Given the description of an element on the screen output the (x, y) to click on. 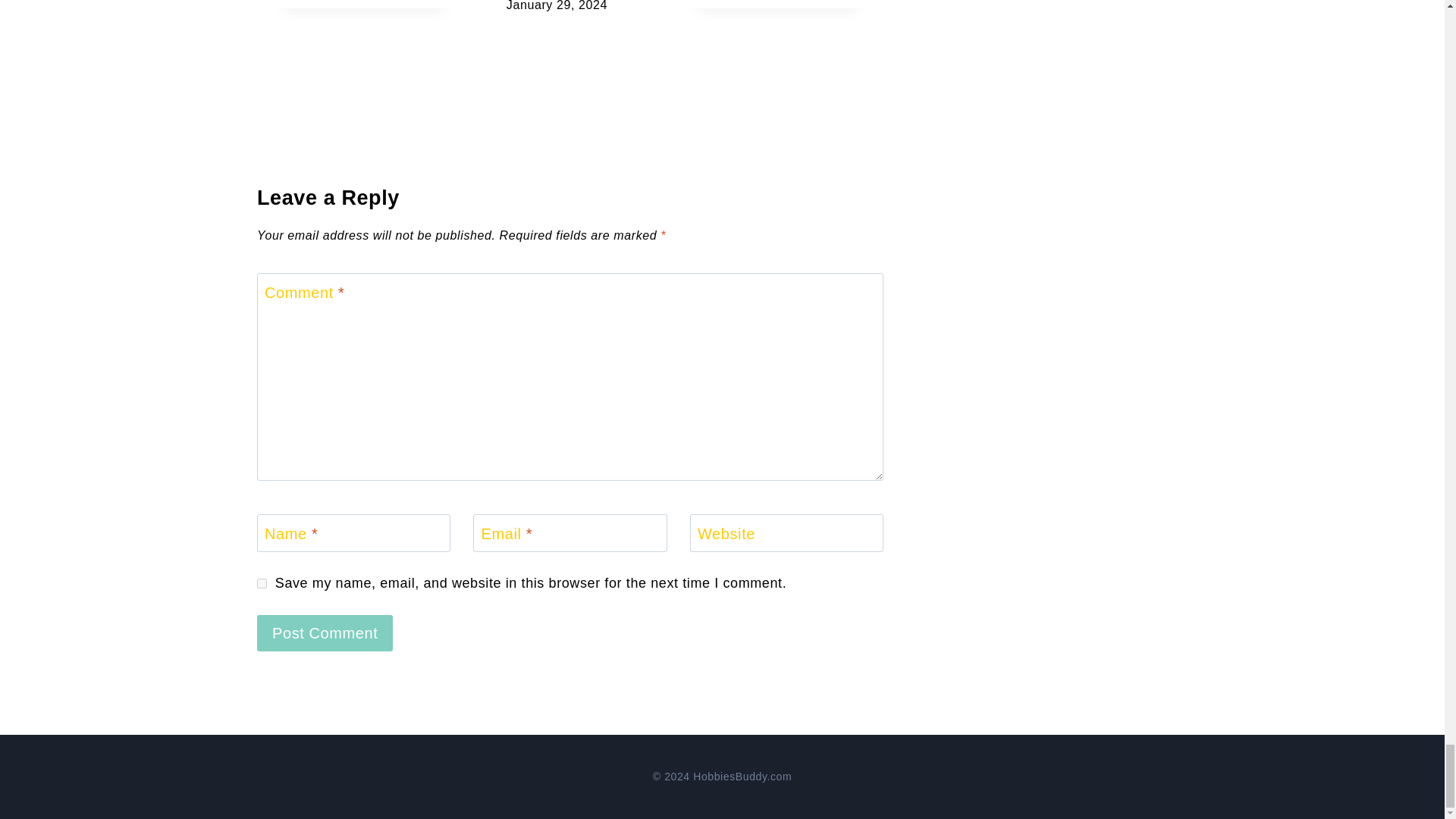
Post Comment (325, 633)
yes (261, 583)
